Given the description of an element on the screen output the (x, y) to click on. 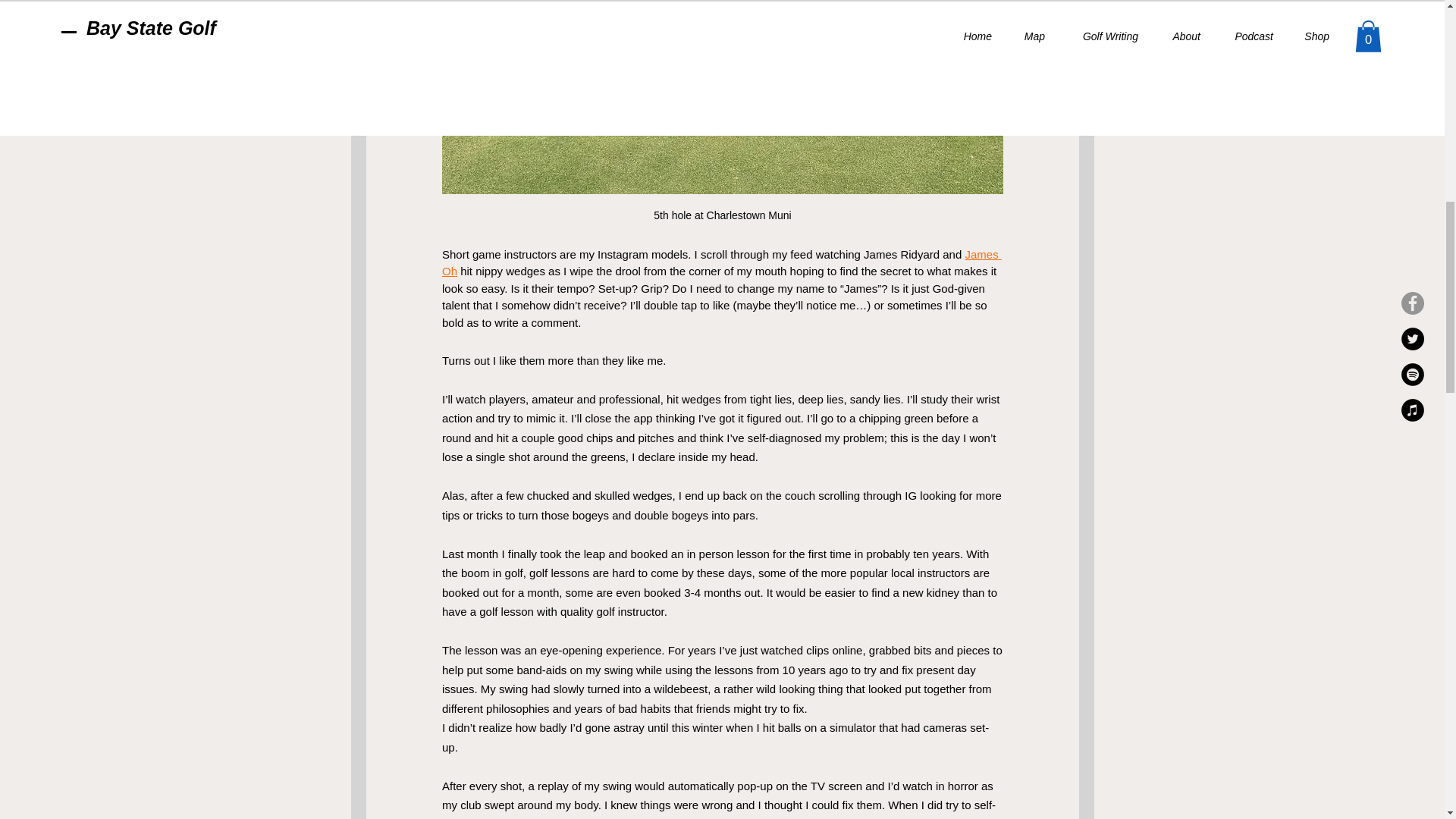
James Oh (721, 262)
